Given the description of an element on the screen output the (x, y) to click on. 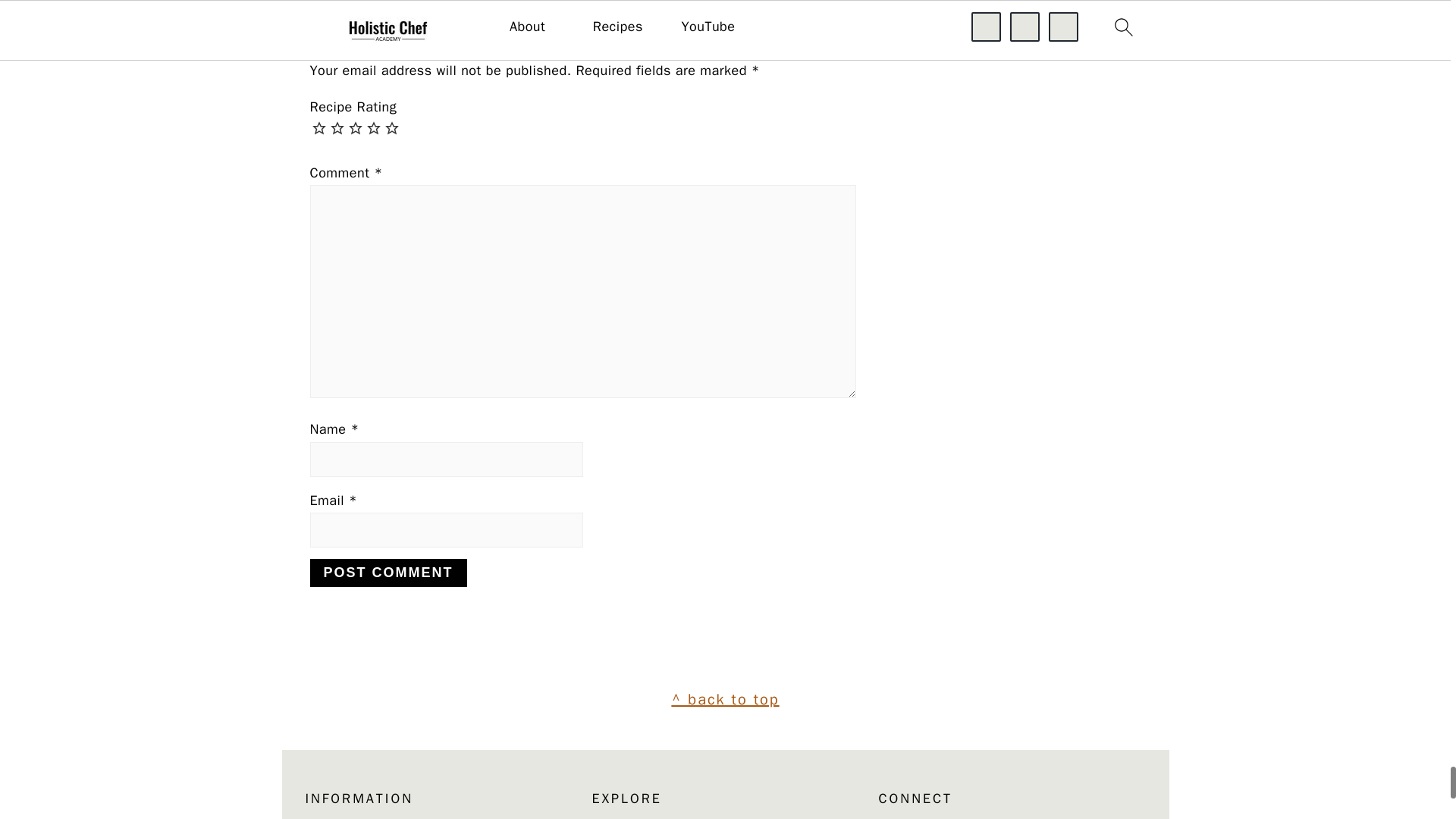
Post Comment (386, 572)
